Given the description of an element on the screen output the (x, y) to click on. 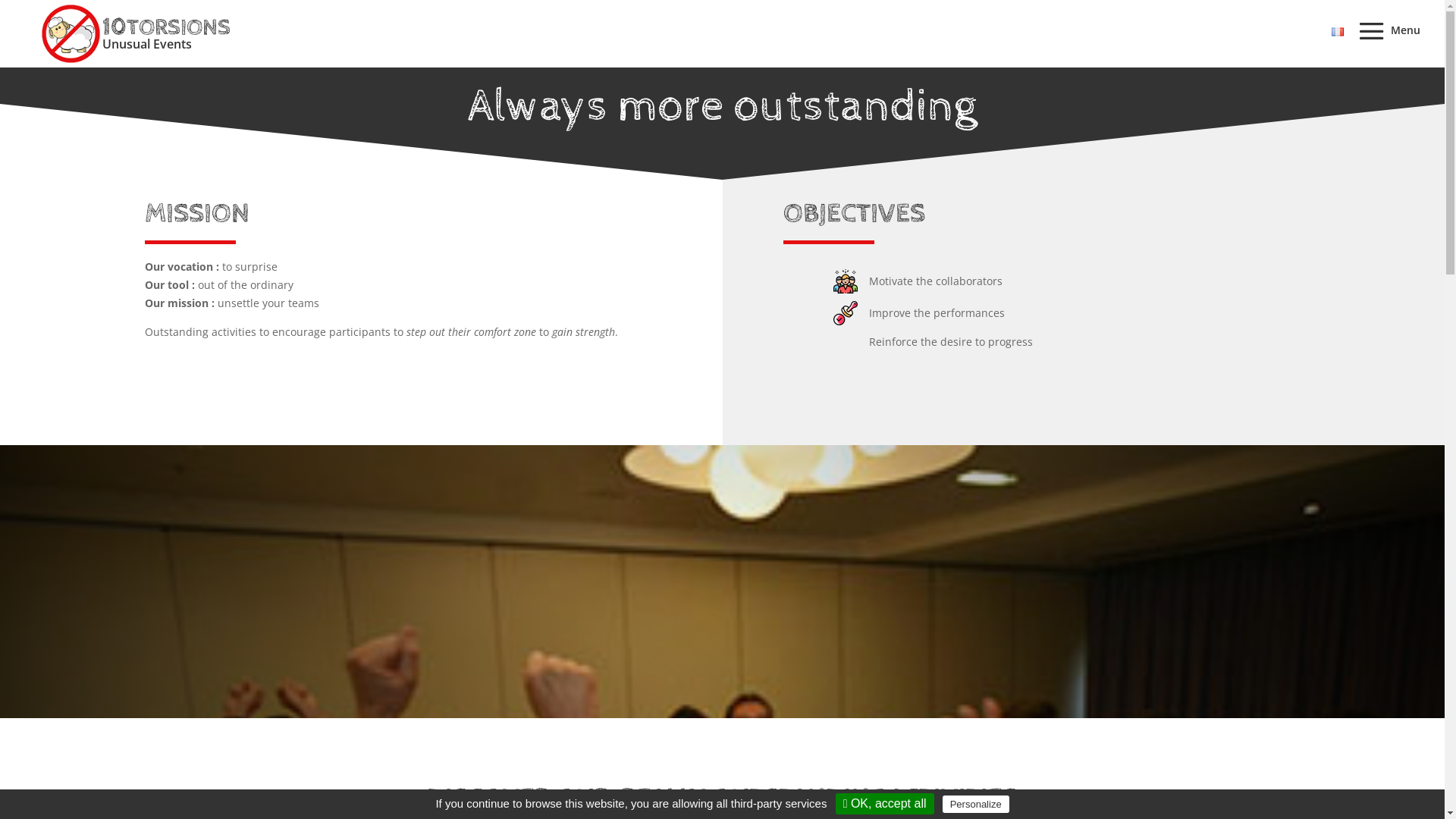
Personalize Element type: text (975, 803)
